Given the description of an element on the screen output the (x, y) to click on. 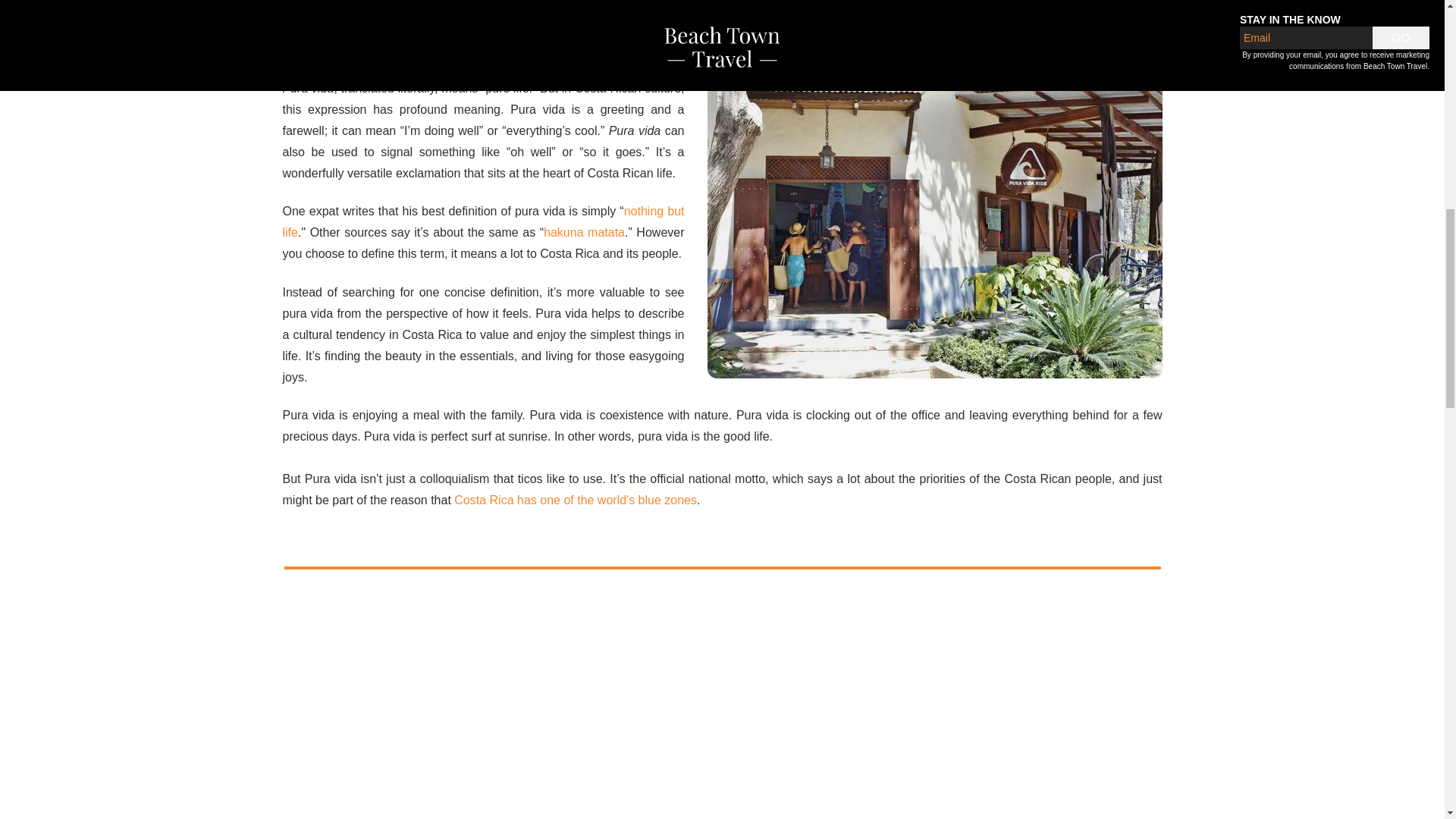
HubSpot Video (722, 719)
hakuna matata (583, 232)
nothing but life (483, 221)
Costa Rica has one of the world's blue zones (575, 499)
